Given the description of an element on the screen output the (x, y) to click on. 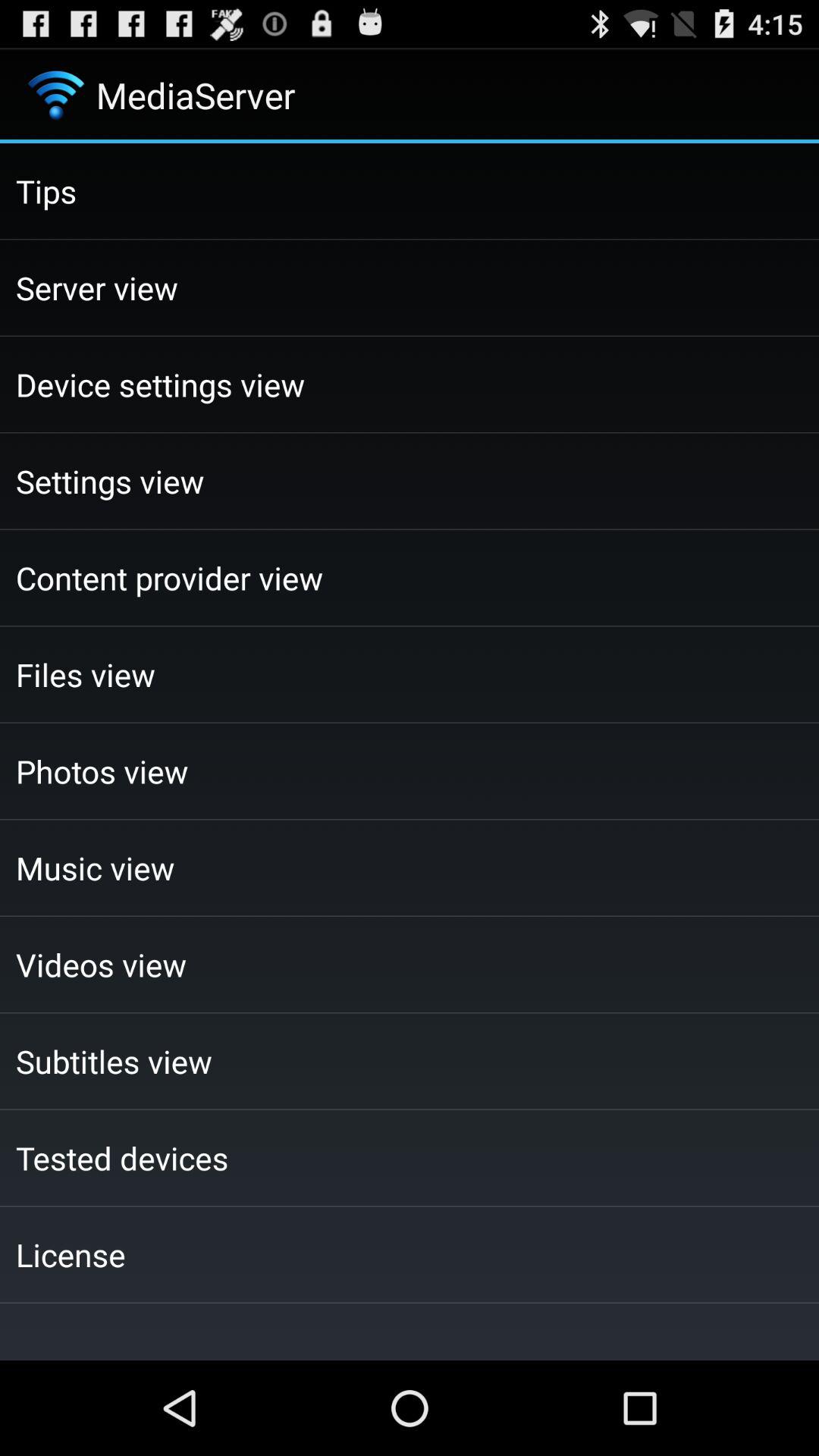
jump to the music view checkbox (409, 867)
